Given the description of an element on the screen output the (x, y) to click on. 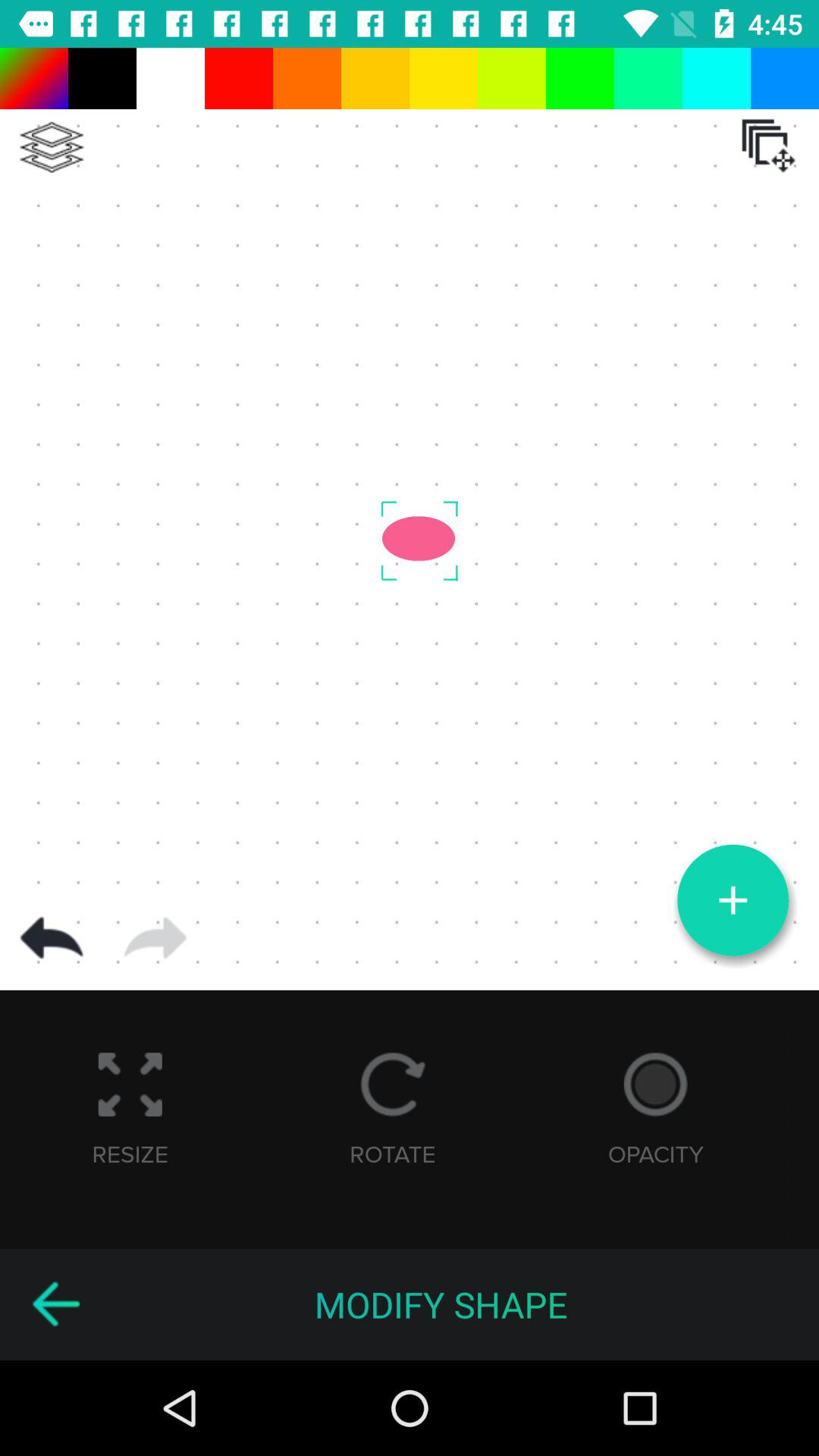
click to re-do (155, 938)
